Given the description of an element on the screen output the (x, y) to click on. 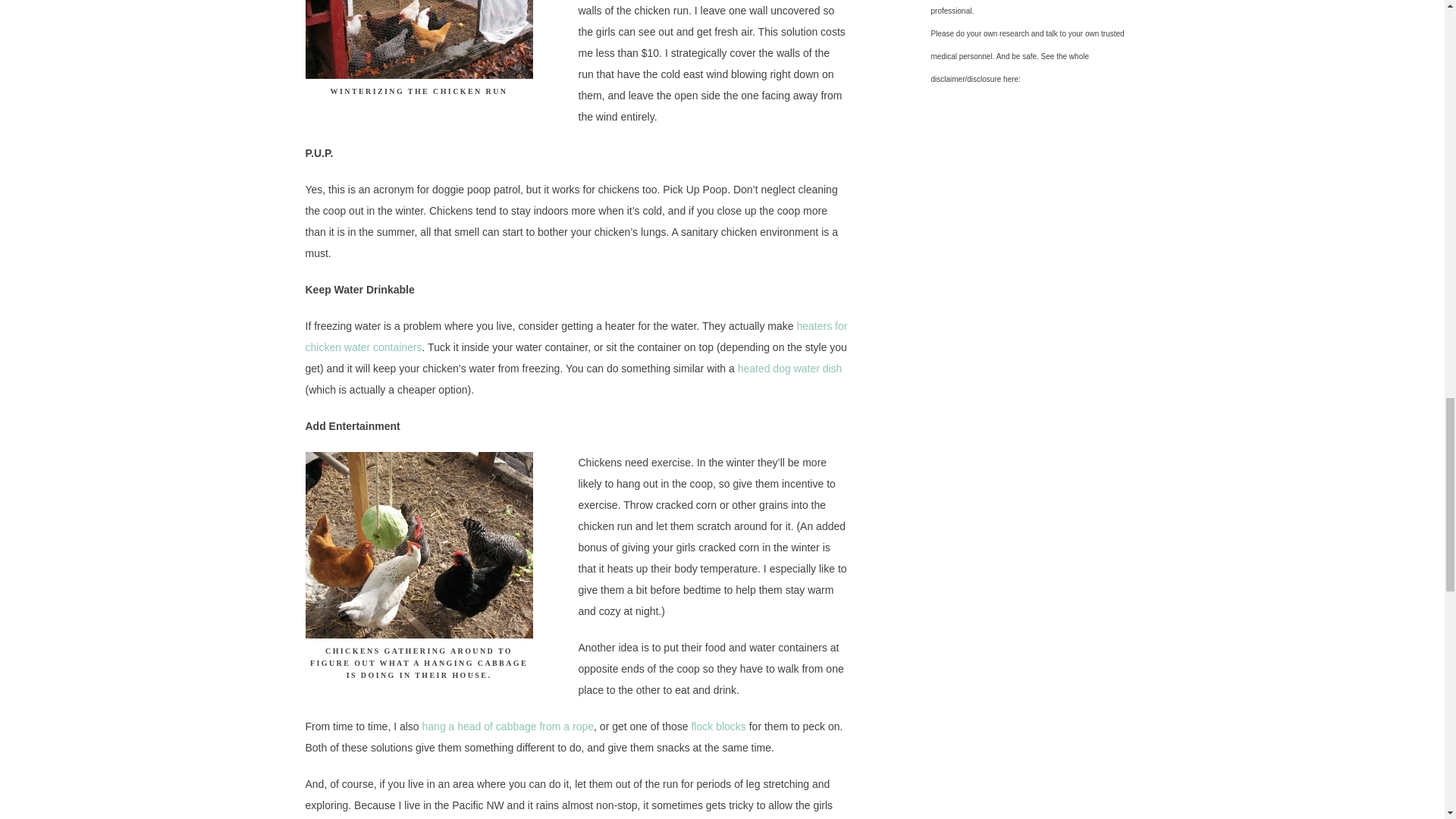
hang a head of cabbage from a rope (508, 726)
Curious Chickens (418, 545)
flock blocks (717, 726)
heated dog water dish (790, 368)
Adding Plastic to Chicken Run (418, 39)
heaters for chicken water containers (575, 336)
